Given the description of an element on the screen output the (x, y) to click on. 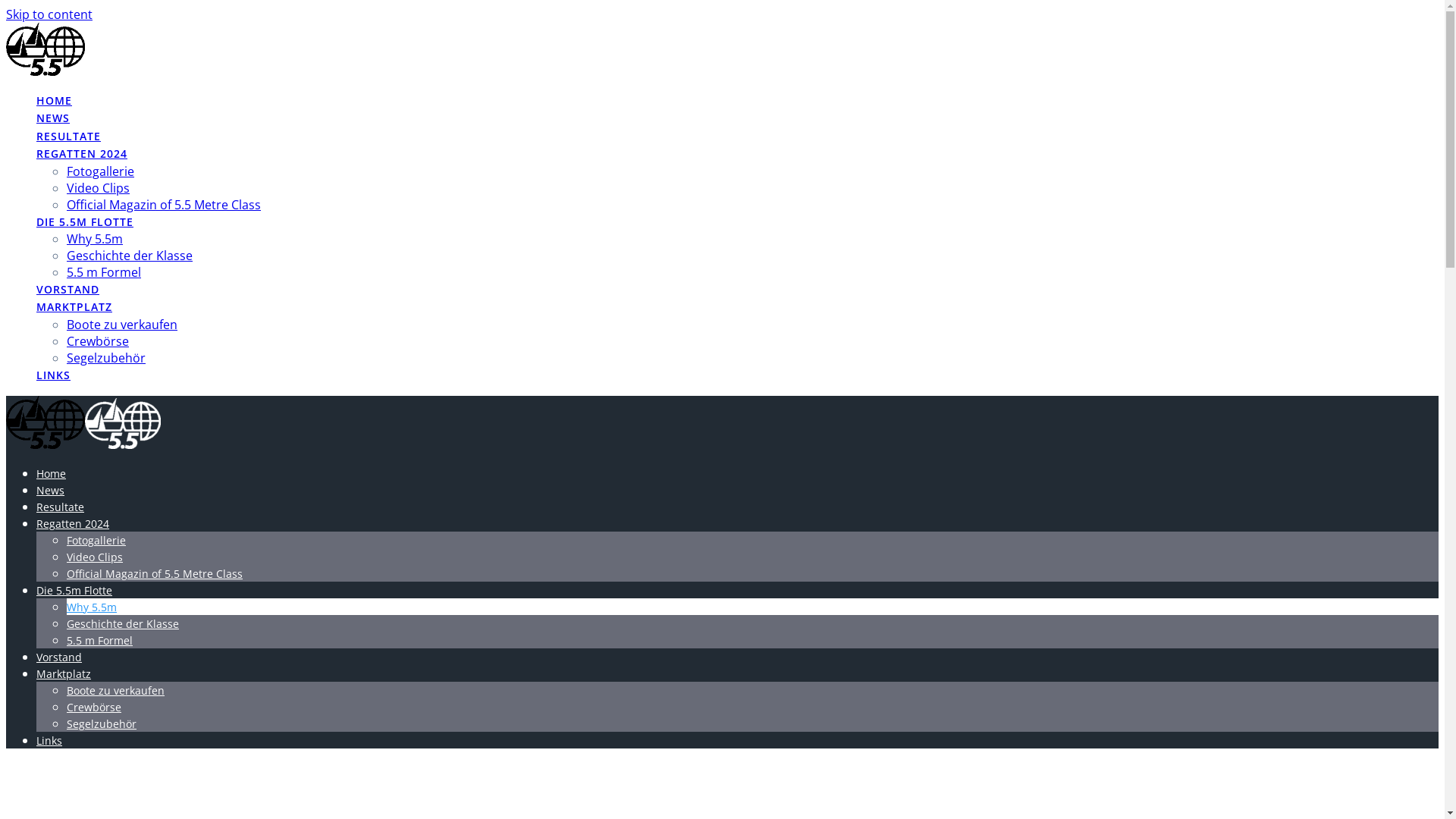
Fotogallerie Element type: text (95, 540)
Official Magazin of 5.5 Metre Class Element type: text (163, 204)
Die 5.5m Flotte Element type: text (74, 590)
Video Clips Element type: text (97, 187)
5.5 m Formel Element type: text (103, 271)
RESULTATE Element type: text (68, 136)
DIE 5.5M FLOTTE Element type: text (84, 222)
News Element type: text (50, 490)
Regatten 2024 Element type: text (72, 523)
Links Element type: text (49, 740)
Boote zu verkaufen Element type: text (115, 690)
Boote zu verkaufen Element type: text (121, 324)
VORSTAND Element type: text (67, 290)
Geschichte der Klasse Element type: text (122, 623)
LINKS Element type: text (53, 375)
Official Magazin of 5.5 Metre Class Element type: text (154, 573)
Why 5.5m Element type: text (94, 238)
Marktplatz Element type: text (63, 673)
Video Clips Element type: text (94, 556)
NEWS Element type: text (52, 118)
Resultate Element type: text (60, 506)
REGATTEN 2024 Element type: text (81, 154)
Why 5.5m Element type: text (91, 606)
Fotogallerie Element type: text (100, 171)
Skip to content Element type: text (49, 14)
Home Element type: text (50, 473)
HOME Element type: text (54, 101)
5.5 m Formel Element type: text (99, 640)
Geschichte der Klasse Element type: text (129, 255)
MARKTPLATZ Element type: text (74, 307)
Vorstand Element type: text (58, 656)
